Given the description of an element on the screen output the (x, y) to click on. 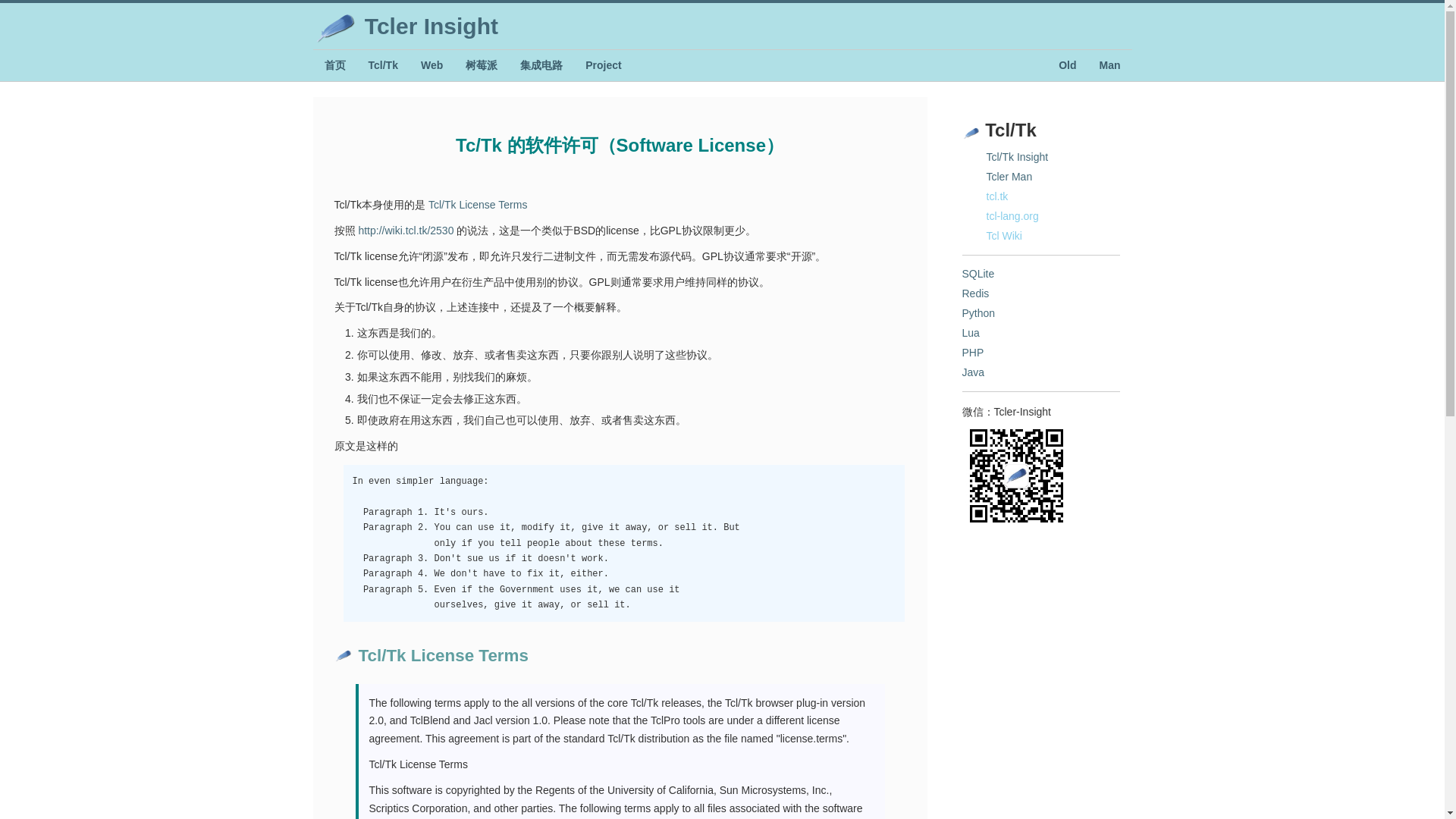
tcl-lang.org (1011, 215)
Lua (969, 332)
PHP (972, 352)
Old (1066, 65)
Java (972, 372)
Python (977, 313)
Tcler Insight (405, 25)
Man (1109, 65)
tcl.tk (996, 196)
Tcl Wiki (1003, 235)
